Given the description of an element on the screen output the (x, y) to click on. 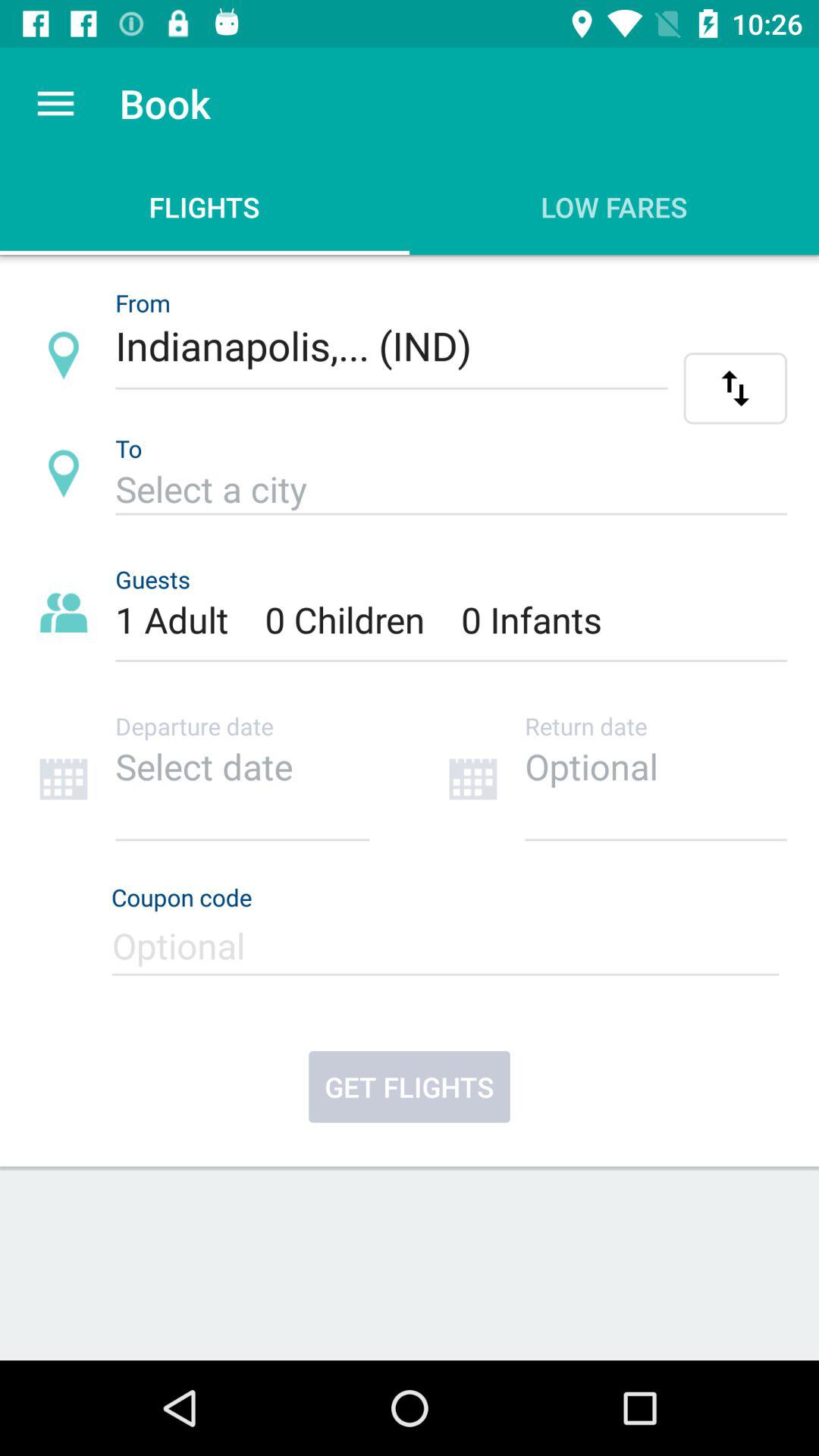
coupon code entry form (449, 952)
